Given the description of an element on the screen output the (x, y) to click on. 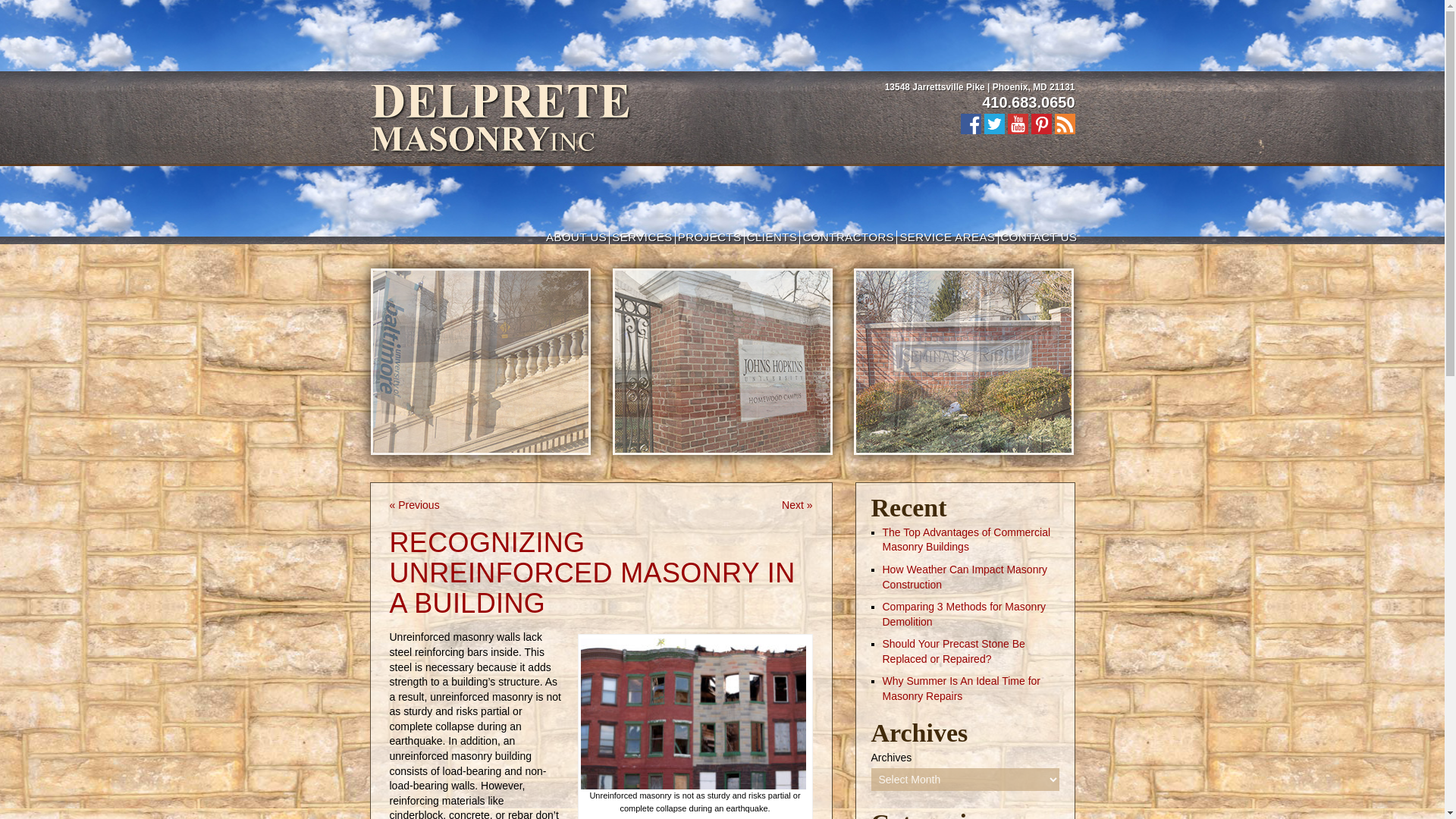
Follow us on youtube (1017, 123)
Services (641, 236)
Contact Us (1039, 236)
Follow us on pinterest (1040, 123)
Clients (771, 236)
CONTRACTORS (847, 236)
Should Your Precast Stone Be Replaced or Repaired? (953, 651)
Follow us on facebook (969, 123)
CLIENTS (771, 236)
Projects (709, 236)
Comparing 3 Methods for Masonry Demolition (964, 614)
How Weather Can Impact Masonry Construction (965, 576)
SERVICES (641, 236)
SERVICE AREAS (946, 236)
Service Areas (946, 236)
